Given the description of an element on the screen output the (x, y) to click on. 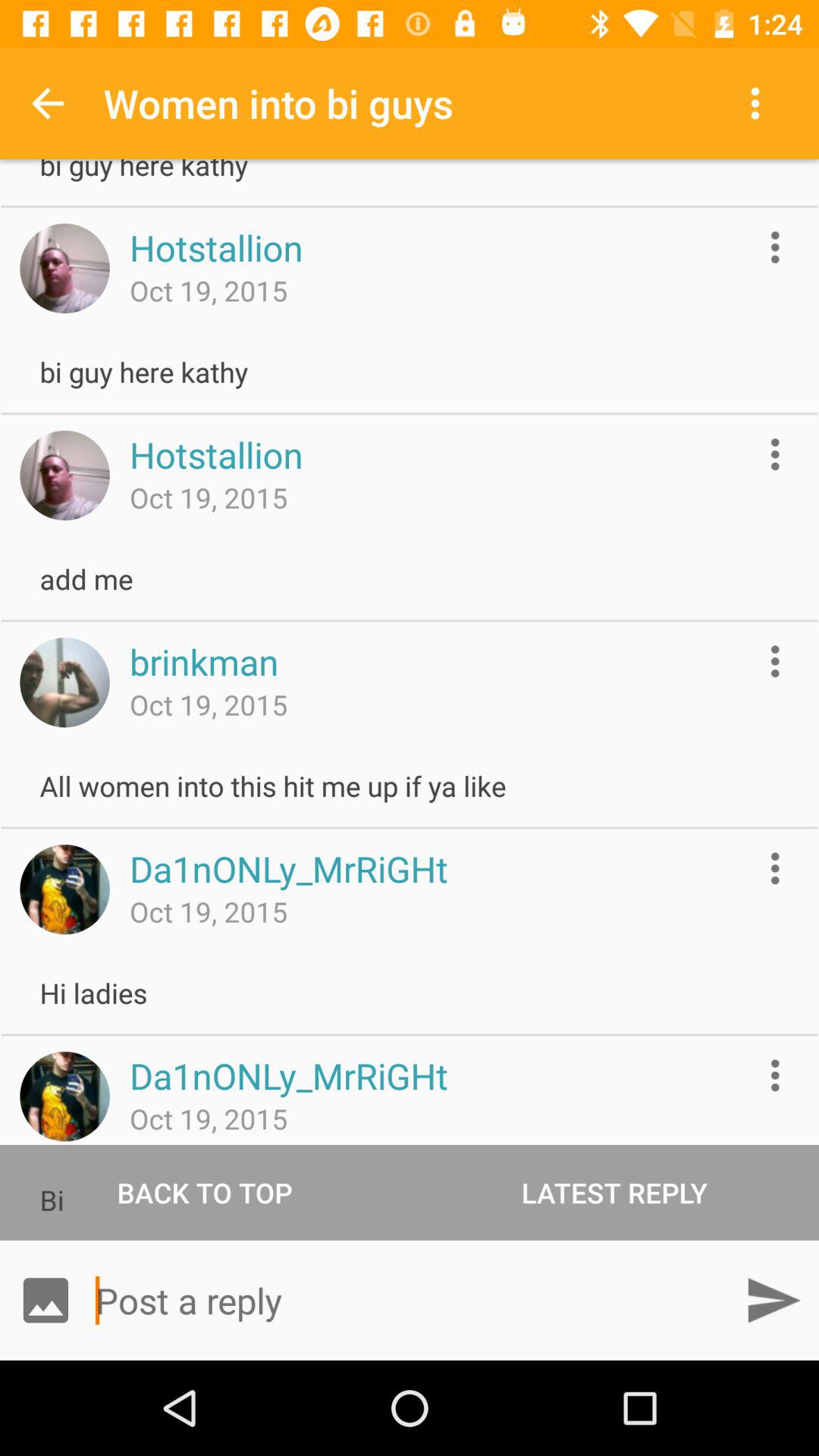
choose icon next to women into bi app (759, 103)
